Given the description of an element on the screen output the (x, y) to click on. 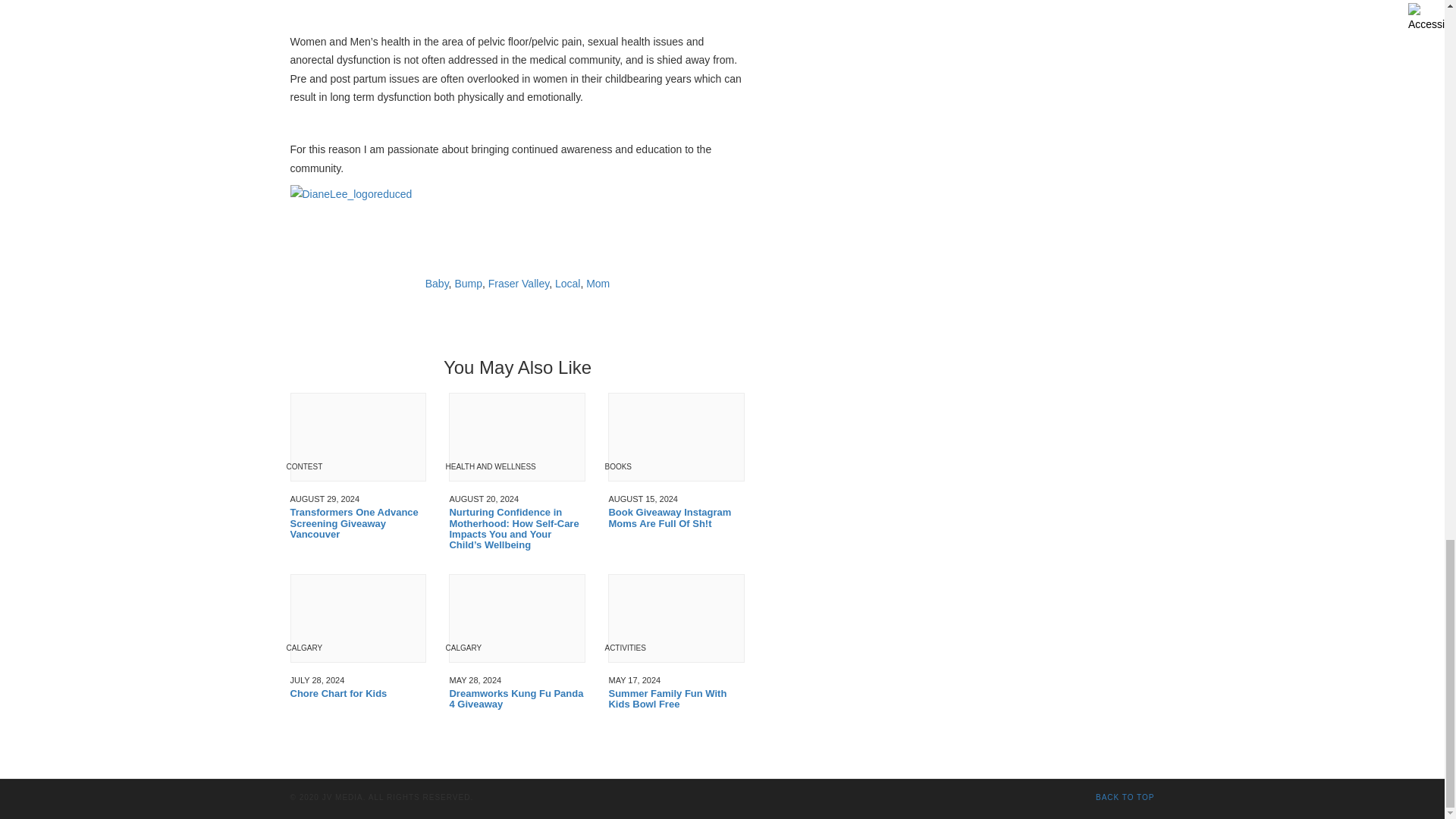
Summer Family Fun With Kids Bowl Free (676, 699)
Book Giveaway Instagram Moms Are Full Of Sh!t (676, 517)
Chore Chart for Kids (357, 693)
Transformers One Advance Screening Giveaway Vancouver (357, 522)
Dreamworks Kung Fu Panda 4 Giveaway (516, 699)
